Given the description of an element on the screen output the (x, y) to click on. 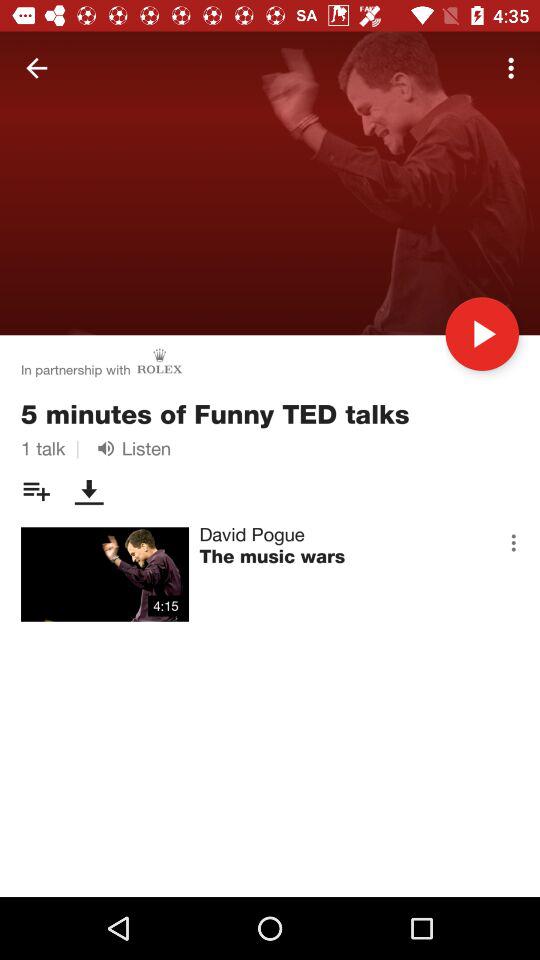
click the item at the top right corner (513, 67)
